Given the description of an element on the screen output the (x, y) to click on. 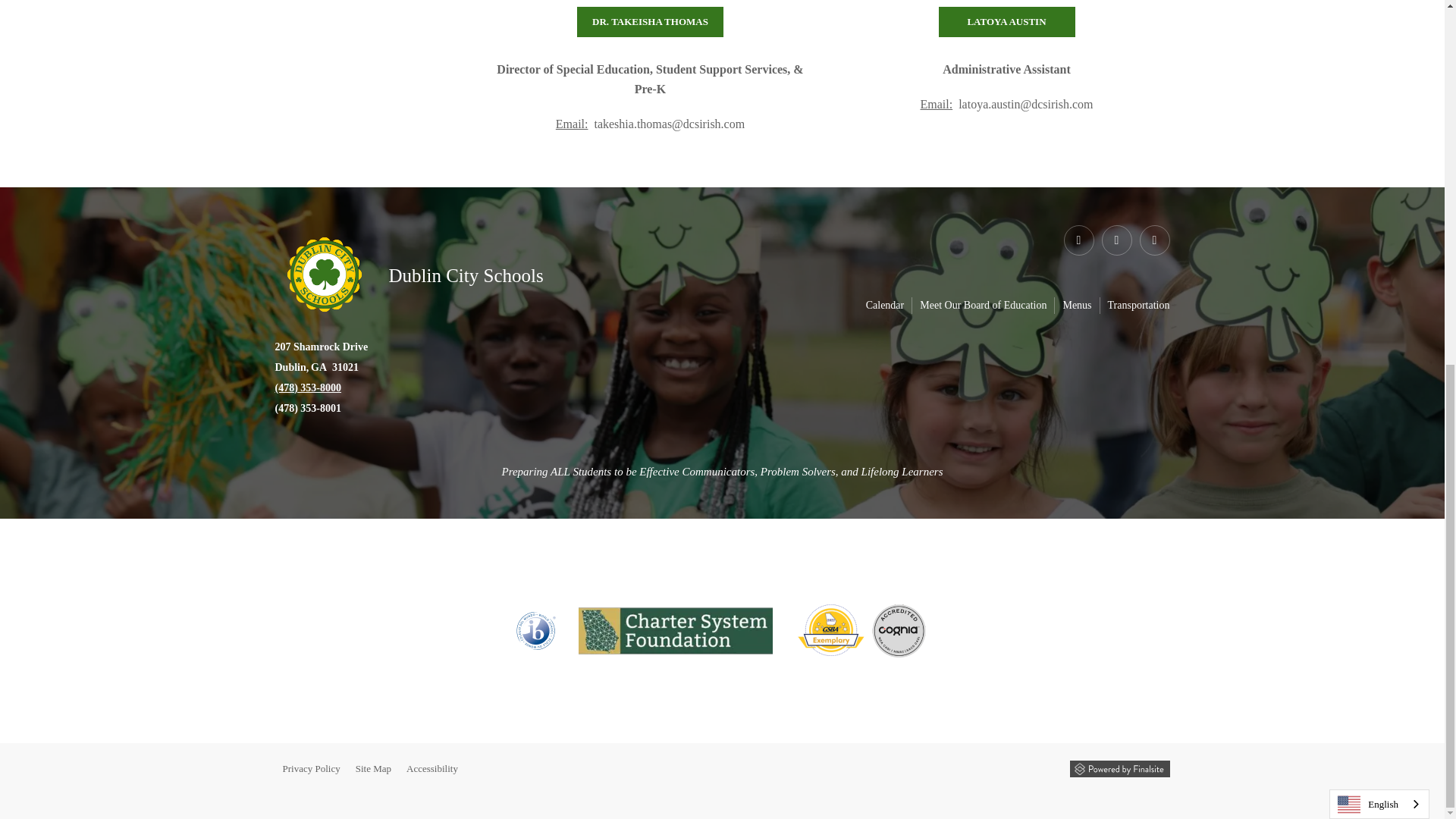
Powered by Finalsite opens in a new window (1118, 768)
